Given the description of an element on the screen output the (x, y) to click on. 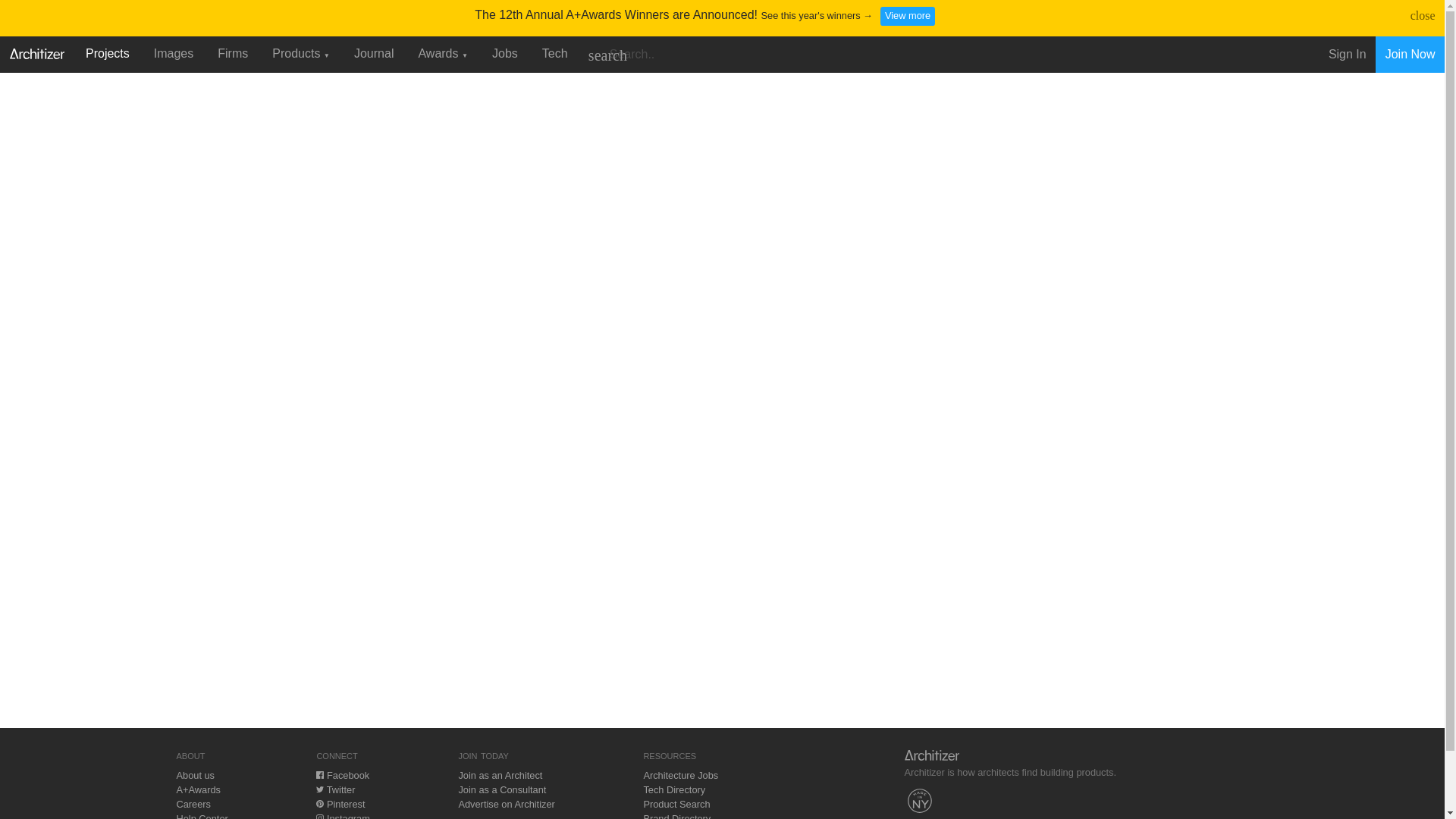
Pinterest icon (319, 803)
Journal (374, 53)
Projects (107, 53)
Brand Directory (676, 816)
Join as a Consultant (502, 789)
Instagram icon (319, 816)
Images (173, 53)
close (1422, 15)
Instagram (342, 816)
Join as an Architect (499, 775)
